Given the description of an element on the screen output the (x, y) to click on. 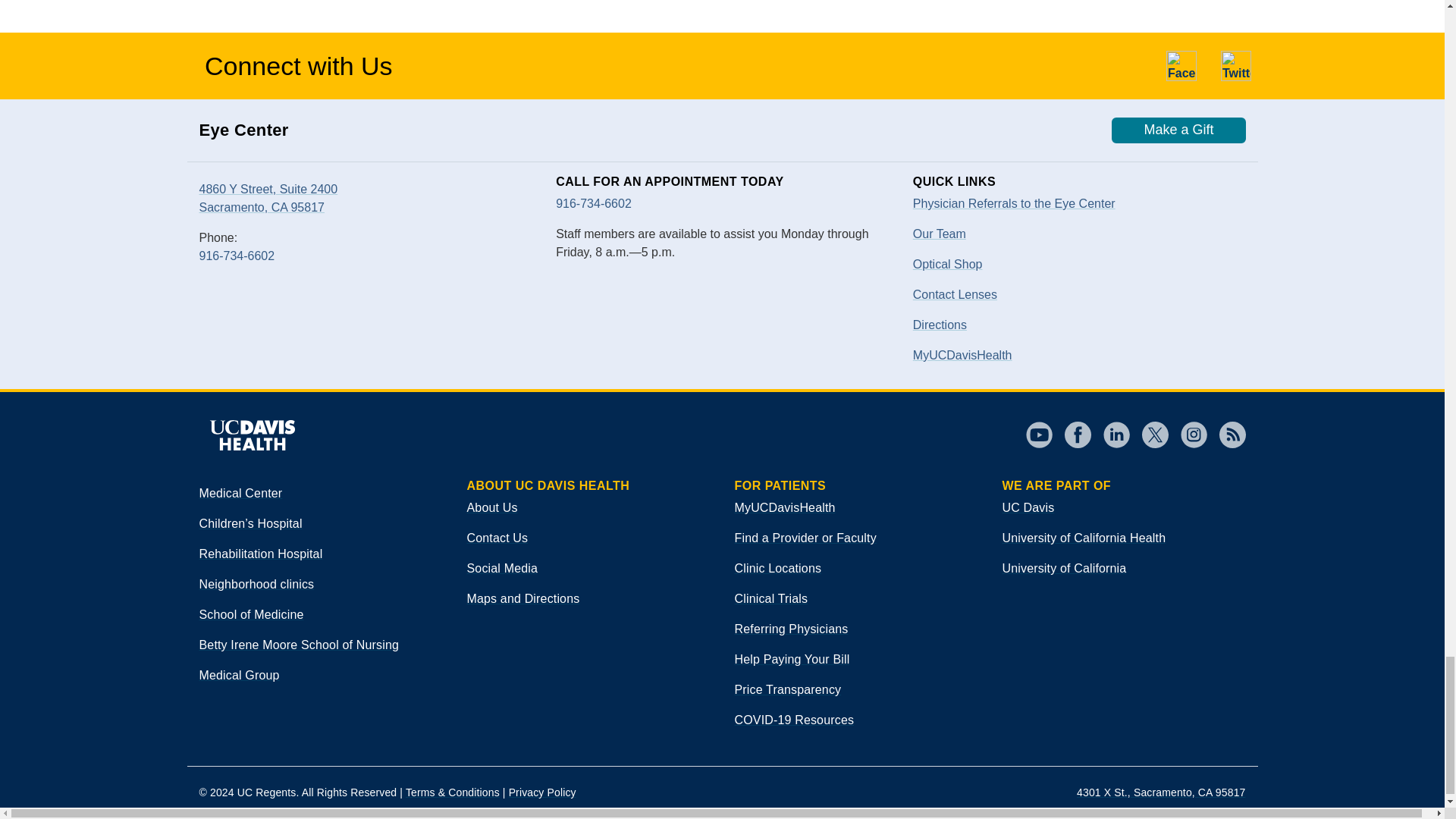
Like us on Facebook (1181, 65)
Visit us on YouTube (1038, 434)
Make a Gift (1178, 129)
Follow us on Twitter (1235, 65)
Follow us on Instagram (1187, 434)
Follow us on LinkedIn (1109, 434)
UC Davis Health (251, 435)
Visit us on Facebook (1071, 434)
Visit us on X (1149, 434)
